Given the description of an element on the screen output the (x, y) to click on. 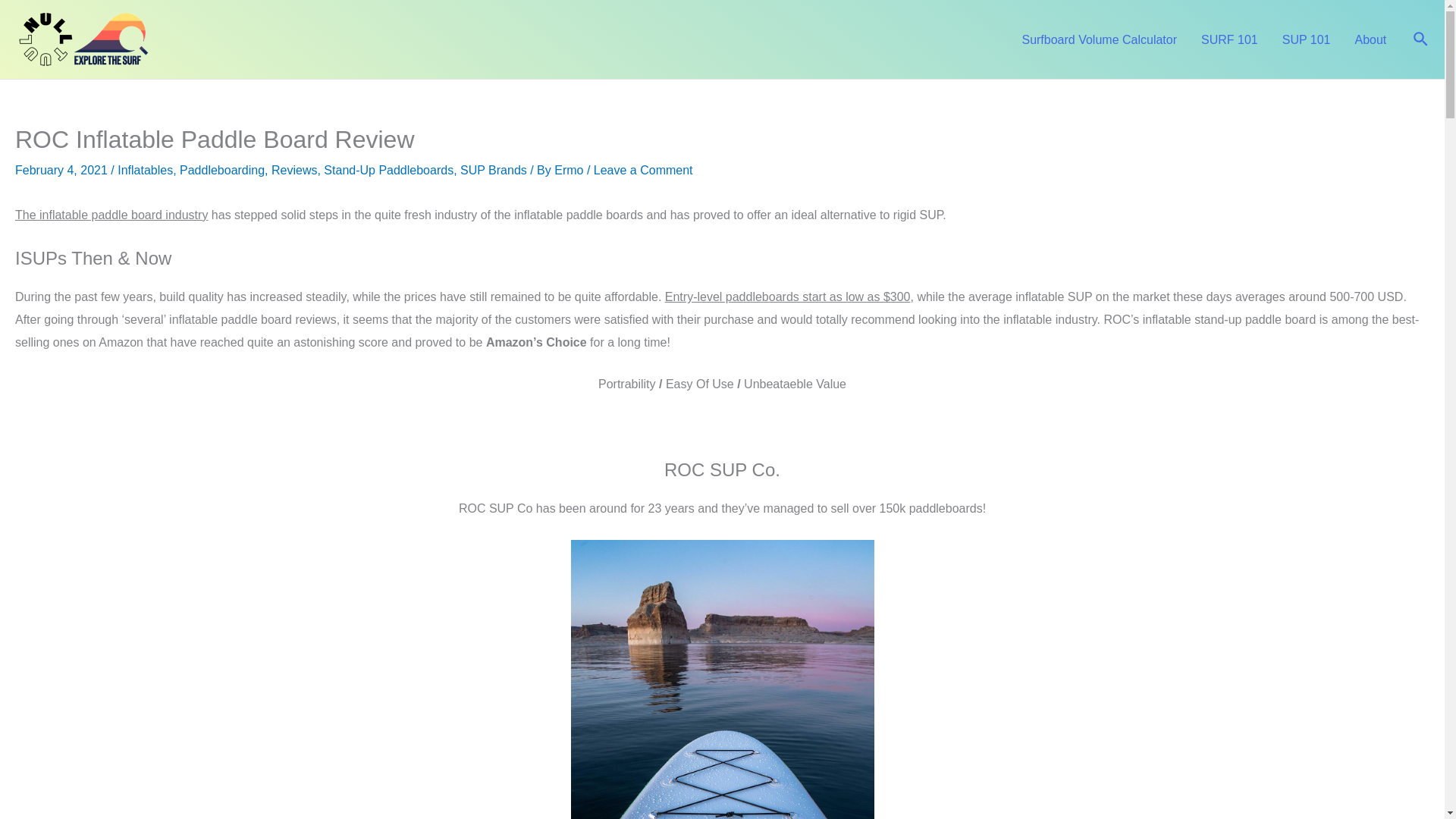
Ermo (570, 169)
SUP 101 (1305, 39)
Stand-Up Paddleboards (387, 169)
Leave a Comment (643, 169)
SUP Brands (493, 169)
Inflatables (145, 169)
View all posts by Ermo (570, 169)
SURF 101 (1229, 39)
Surfboard Volume Calculator (1099, 39)
Reviews (293, 169)
